Given the description of an element on the screen output the (x, y) to click on. 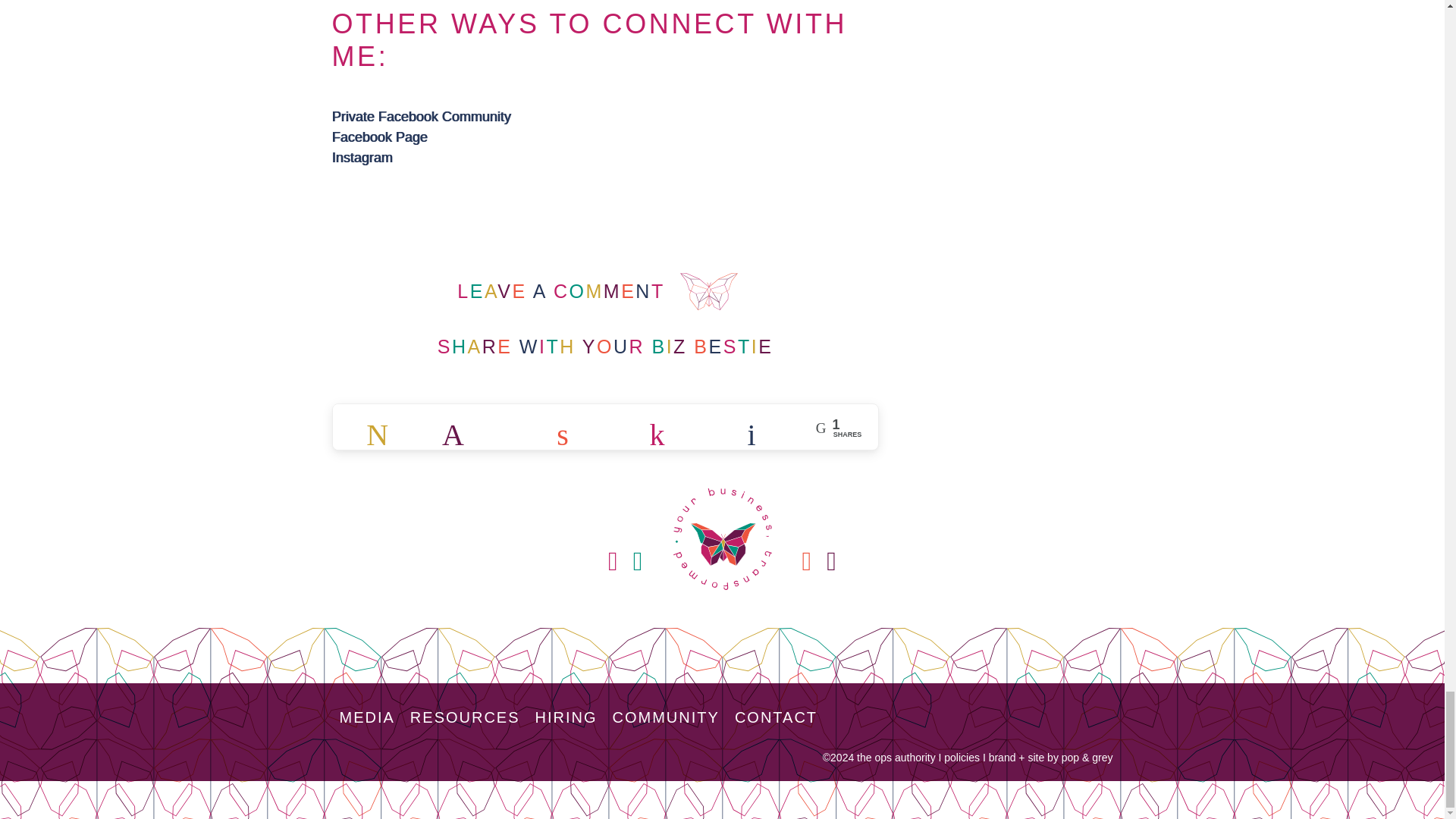
Private Facebook Community (421, 116)
1 (473, 427)
Instagram (362, 157)
Facebook Page (379, 136)
